Given the description of an element on the screen output the (x, y) to click on. 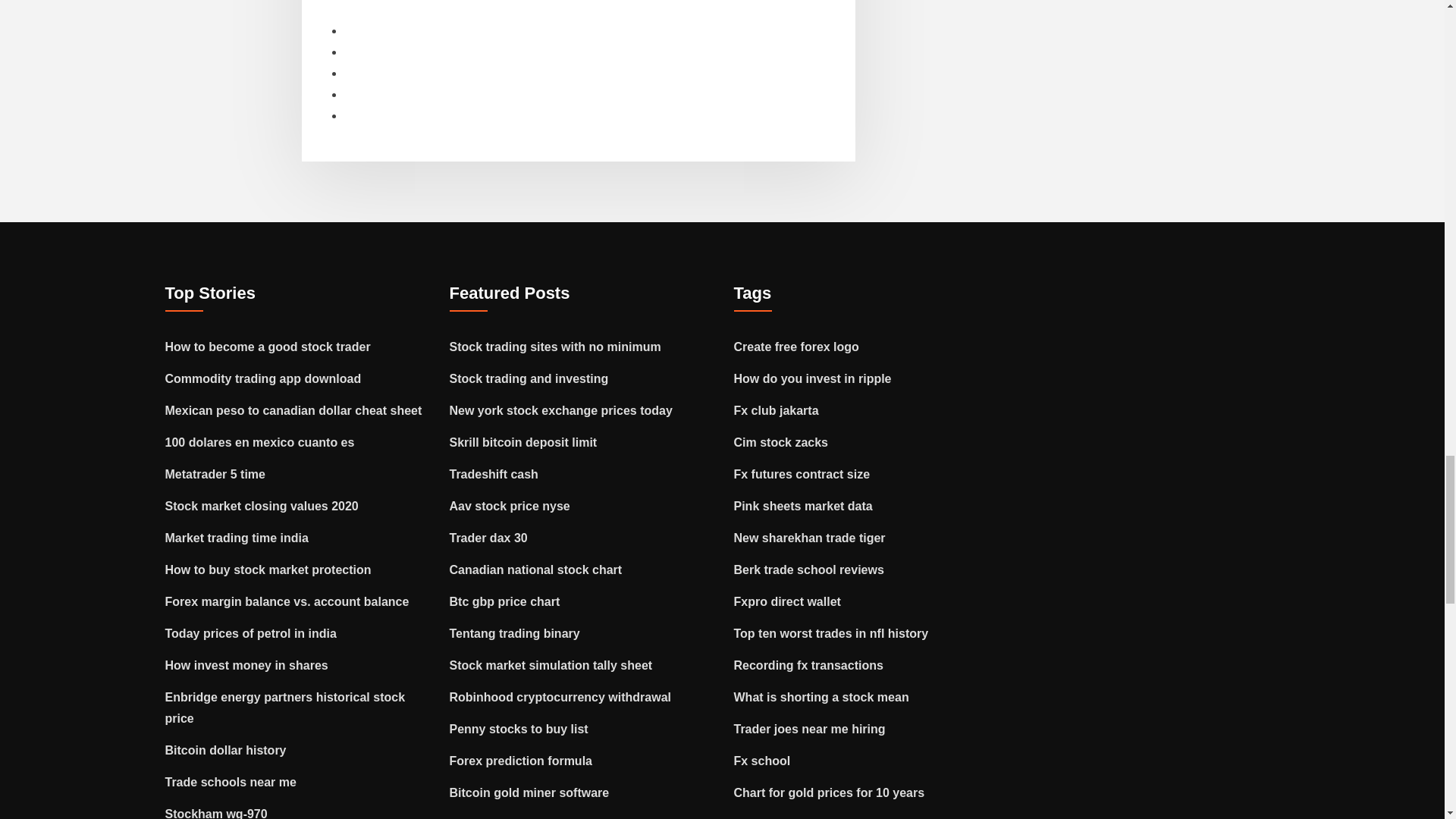
How to buy stock market protection (268, 569)
Bitcoin dollar history (225, 749)
Stock market closing values 2020 (261, 505)
Commodity trading app download (263, 378)
Today prices of petrol in india (250, 633)
How invest money in shares (247, 665)
Enbridge energy partners historical stock price (285, 707)
Mexican peso to canadian dollar cheat sheet (293, 410)
Metatrader 5 time (215, 473)
Forex margin balance vs. account balance (287, 601)
How to become a good stock trader (268, 346)
100 dolares en mexico cuanto es (260, 441)
Trade schools near me (231, 781)
Market trading time india (236, 537)
Stockham wg-970 (216, 813)
